Given the description of an element on the screen output the (x, y) to click on. 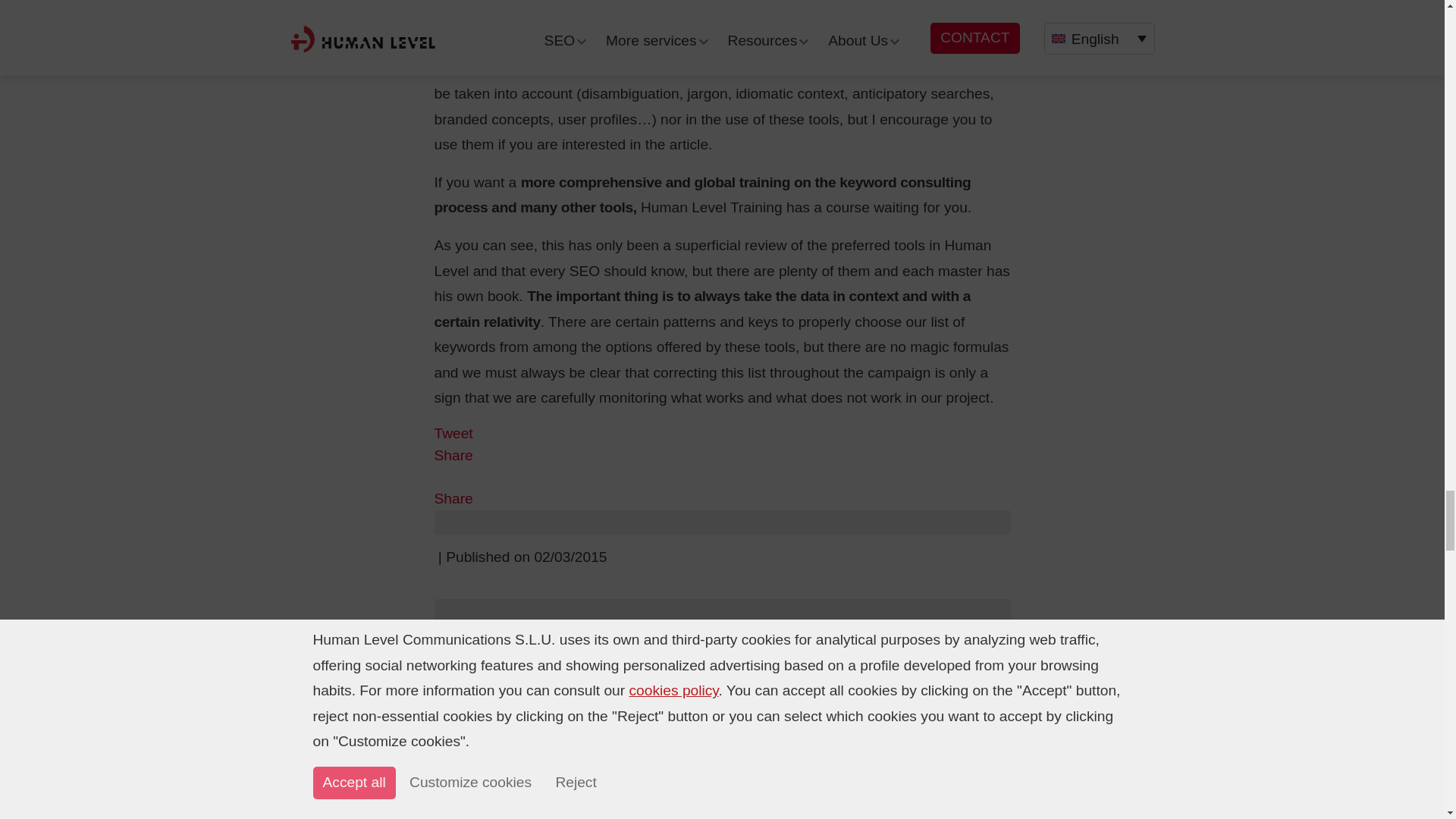
Ir a perfil de Twitter del autor (574, 708)
Ir a perfil de LinkedIn del autor (600, 708)
